Given the description of an element on the screen output the (x, y) to click on. 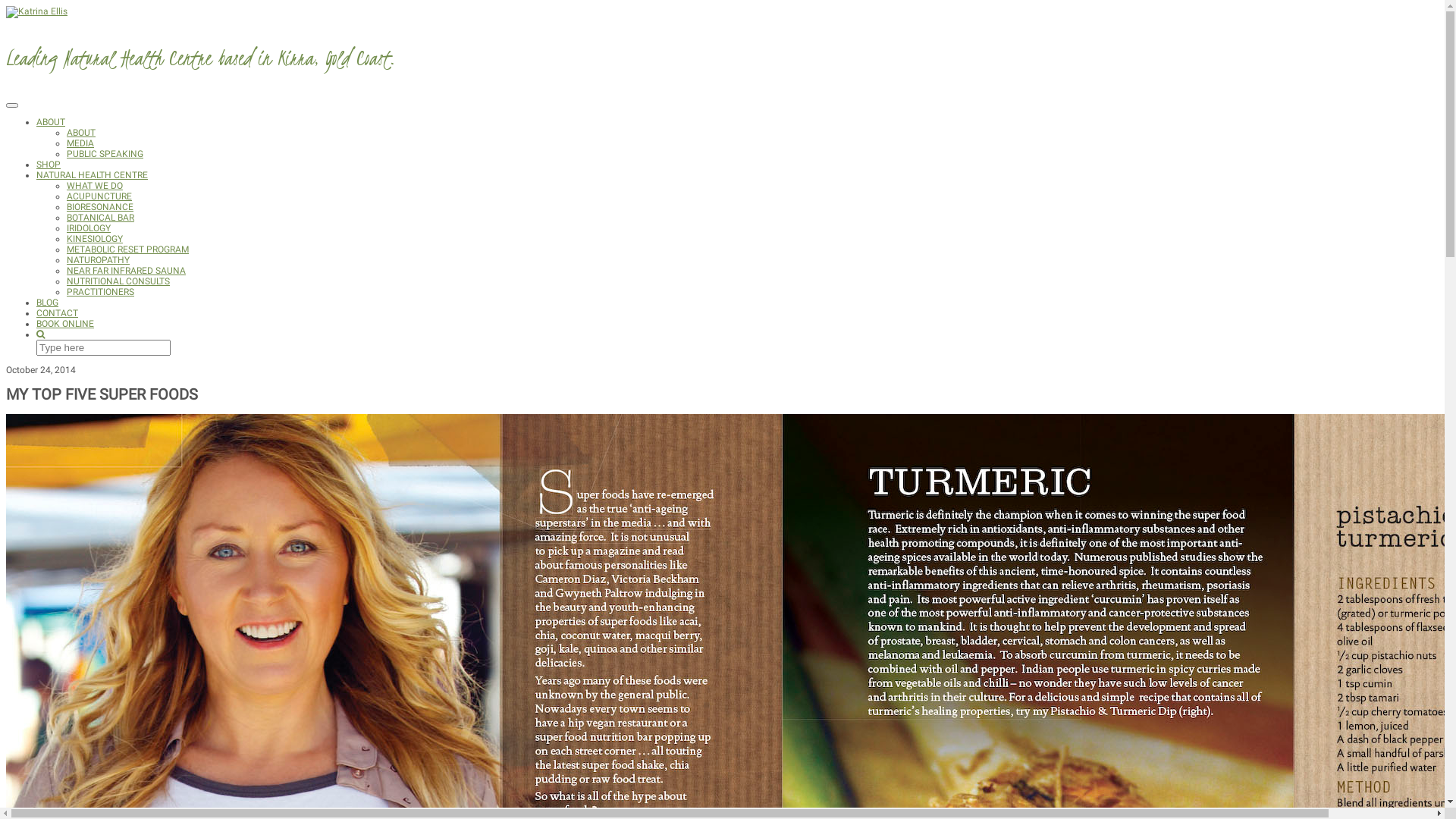
SHOP Element type: text (48, 164)
PUBLIC SPEAKING Element type: text (104, 153)
NATUROPATHY Element type: text (97, 259)
Toggle Navigation Element type: text (12, 105)
NEAR FAR INFRARED SAUNA Element type: text (125, 270)
ACUPUNCTURE Element type: text (98, 196)
MEDIA Element type: text (80, 143)
BIORESONANCE Element type: text (99, 206)
PRACTITIONERS Element type: text (100, 291)
NUTRITIONAL CONSULTS Element type: text (117, 281)
BOTANICAL BAR Element type: text (100, 217)
NATURAL HEALTH CENTRE Element type: text (91, 174)
IRIDOLOGY Element type: text (88, 227)
BLOG Element type: text (47, 302)
METABOLIC RESET PROGRAM Element type: text (127, 249)
ABOUT Element type: text (80, 132)
BOOK ONLINE Element type: text (65, 323)
CONTACT Element type: text (57, 312)
ABOUT Element type: text (50, 121)
KINESIOLOGY Element type: text (94, 238)
WHAT WE DO Element type: text (94, 185)
